Given the description of an element on the screen output the (x, y) to click on. 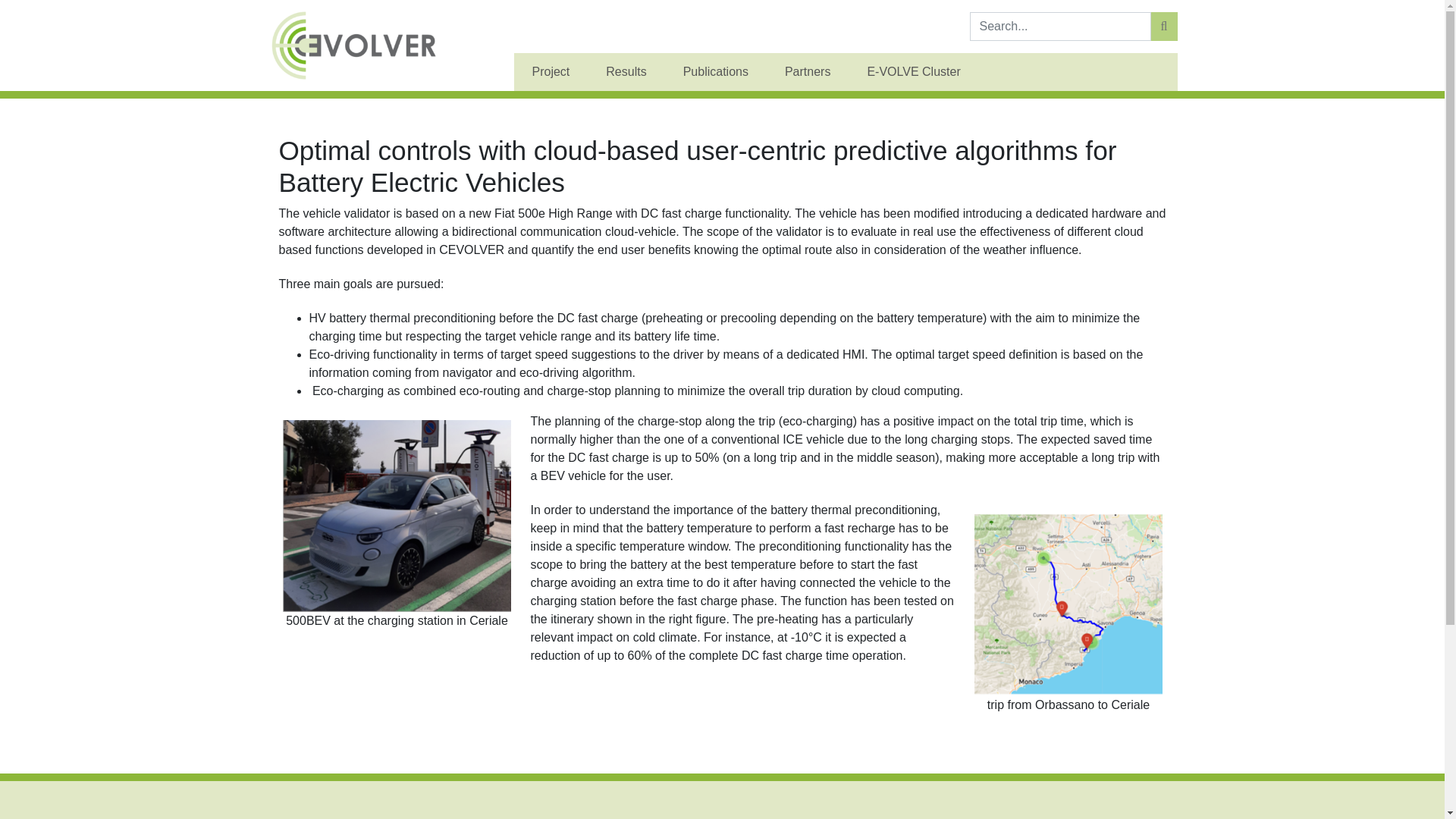
Results (625, 71)
Partners (807, 71)
Project (550, 71)
E-VOLVE Cluster (913, 71)
Publications (716, 71)
